Given the description of an element on the screen output the (x, y) to click on. 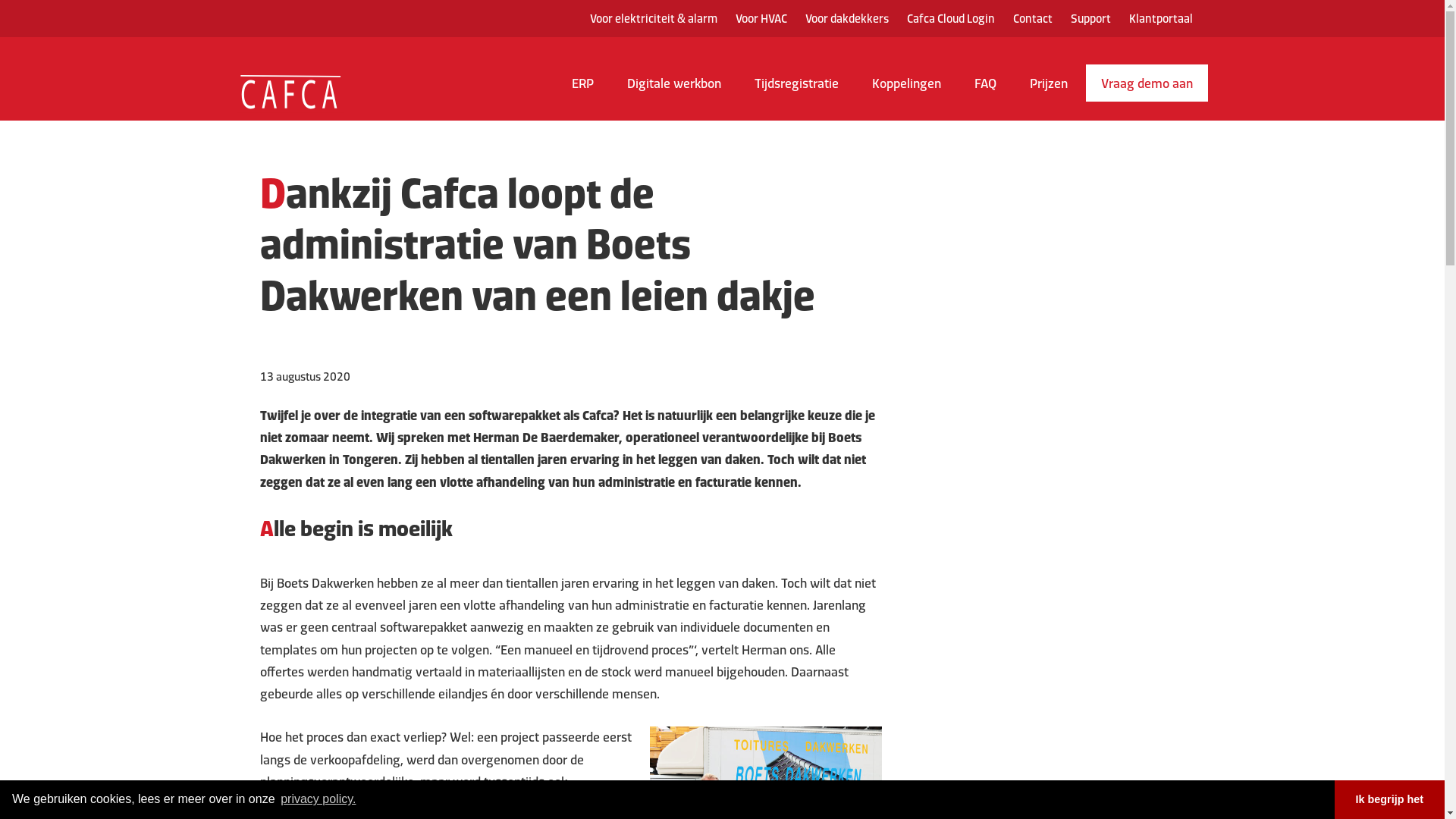
Voor HVAC Element type: text (761, 18)
Digitale werkbon Element type: text (673, 89)
Contact Element type: text (1032, 18)
Voor elektriciteit & alarm Element type: text (653, 18)
ERP Element type: text (582, 89)
Support Element type: text (1090, 18)
Klantportaal Element type: text (1160, 18)
Vraag demo aan Element type: text (1146, 82)
Prijzen Element type: text (1048, 89)
Spring naar de hoofdnavigatie Element type: text (0, 0)
Cafca Cloud Login Element type: text (950, 18)
Home Element type: text (268, 90)
Voor dakdekkers Element type: text (846, 18)
Cafca Software voor Installatiebedrijven Element type: text (289, 74)
Koppelingen Element type: text (906, 89)
FAQ Element type: text (984, 89)
Tijdsregistratie Element type: text (795, 89)
privacy policy. Element type: text (318, 798)
